Given the description of an element on the screen output the (x, y) to click on. 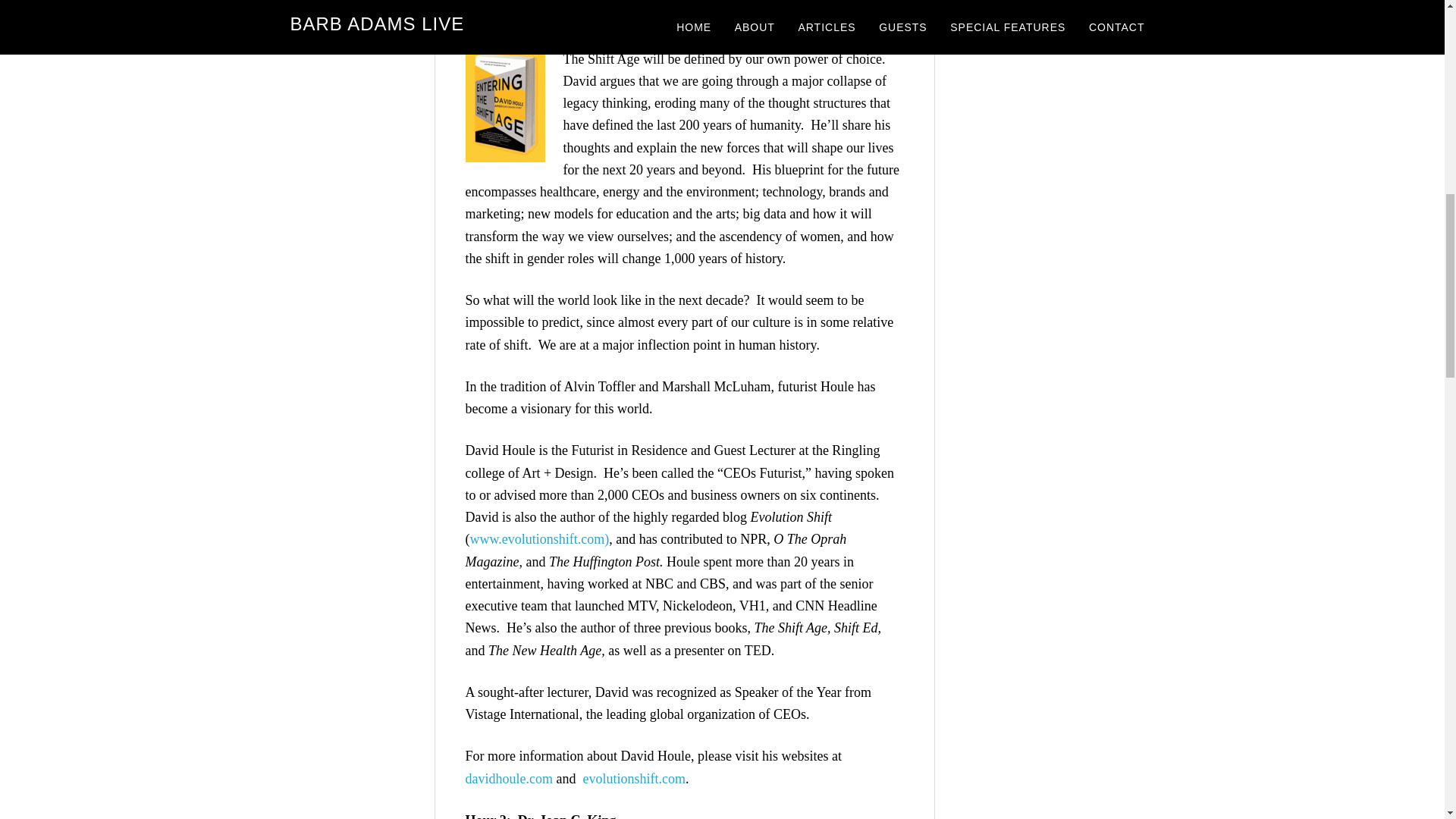
davidhoule.com (509, 777)
evolutionshift.com (633, 777)
